Given the description of an element on the screen output the (x, y) to click on. 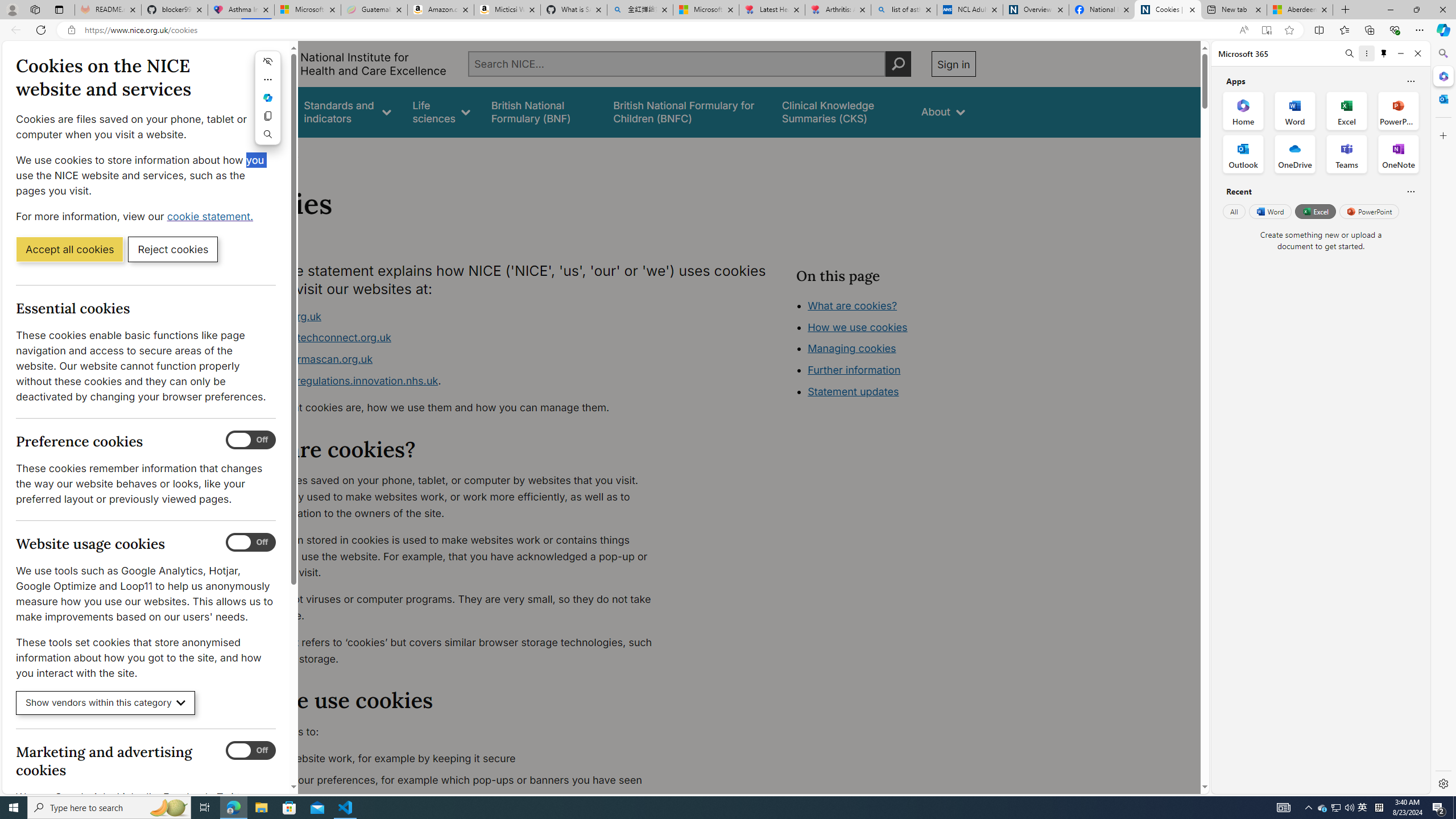
Hide menu (267, 61)
Marketing and advertising cookies (250, 750)
Accept all cookies (69, 248)
Ask Copilot (267, 97)
Asthma Inhalers: Names and Types (240, 9)
How we use cookies (896, 389)
list of asthma inhalers uk - Search (904, 9)
All (1233, 210)
